Given the description of an element on the screen output the (x, y) to click on. 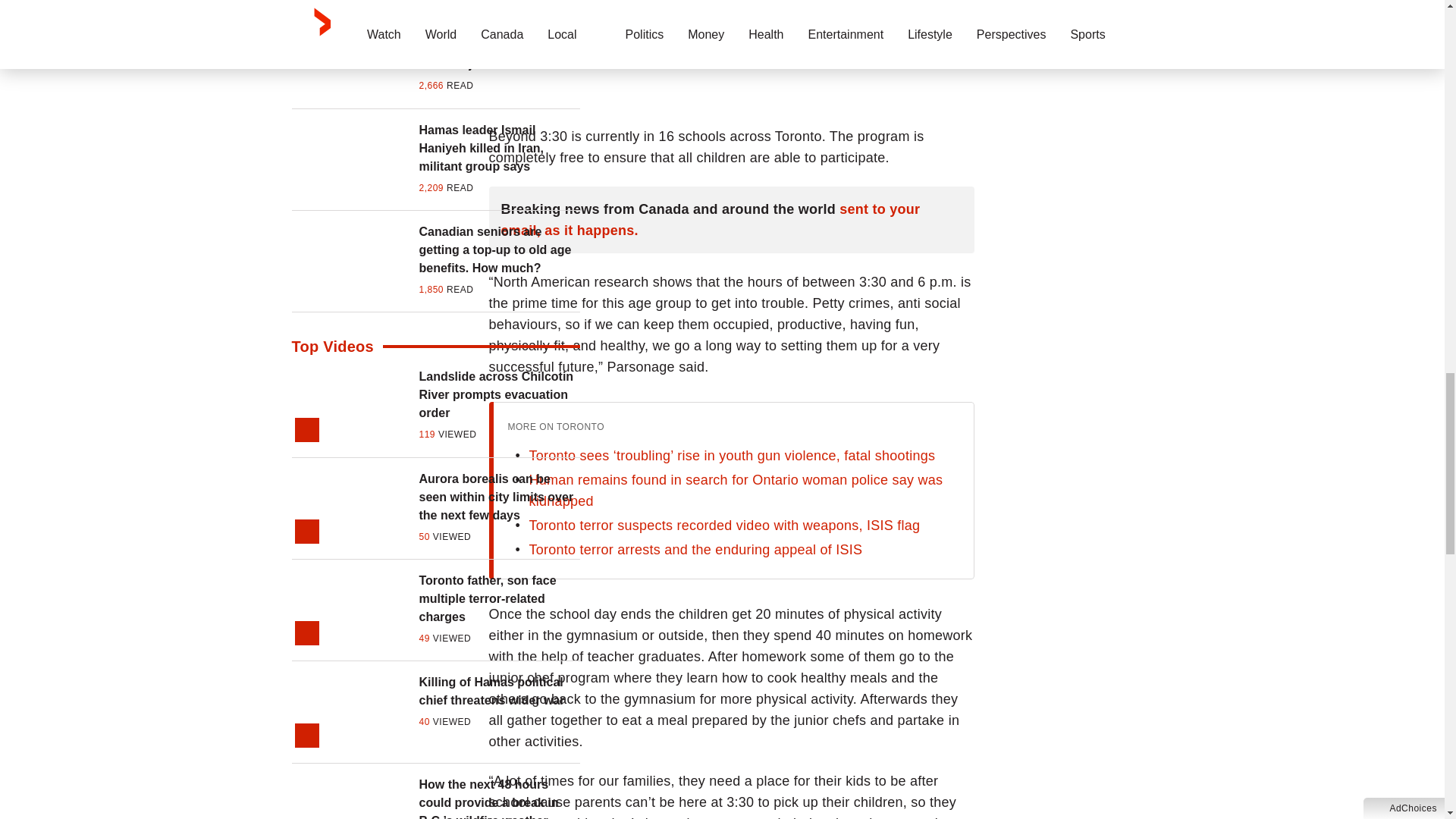
Landslide across Chilcotin River prompts evacuation order (499, 394)
